Given the description of an element on the screen output the (x, y) to click on. 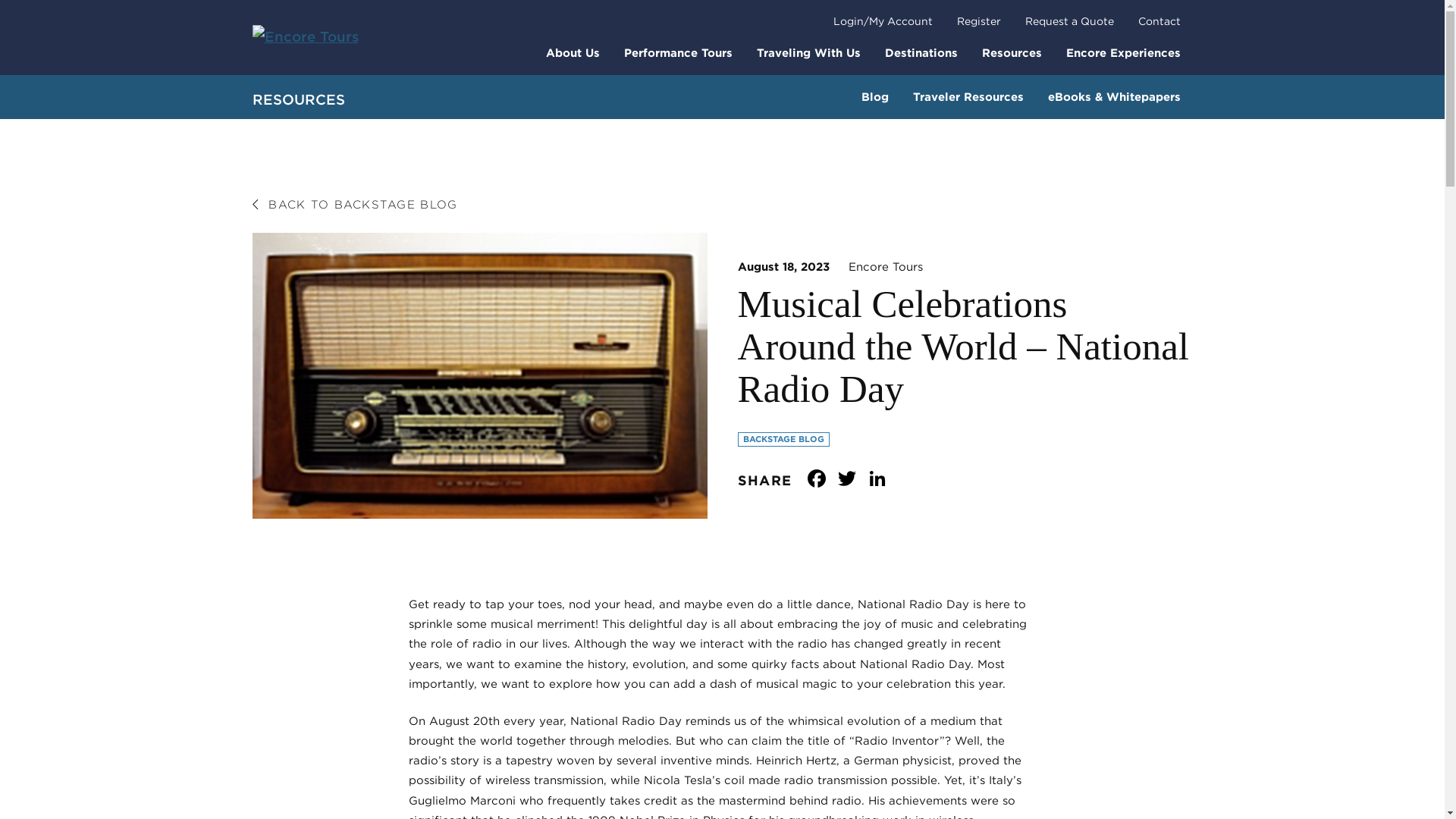
Traveling With Us (808, 51)
Contact (1158, 20)
Performance Tours (677, 51)
About Us (572, 51)
Resources (1010, 51)
Request a Quote (1069, 20)
About Us (572, 51)
Destinations (920, 51)
Traveling With Us (808, 51)
Register (978, 20)
